Given the description of an element on the screen output the (x, y) to click on. 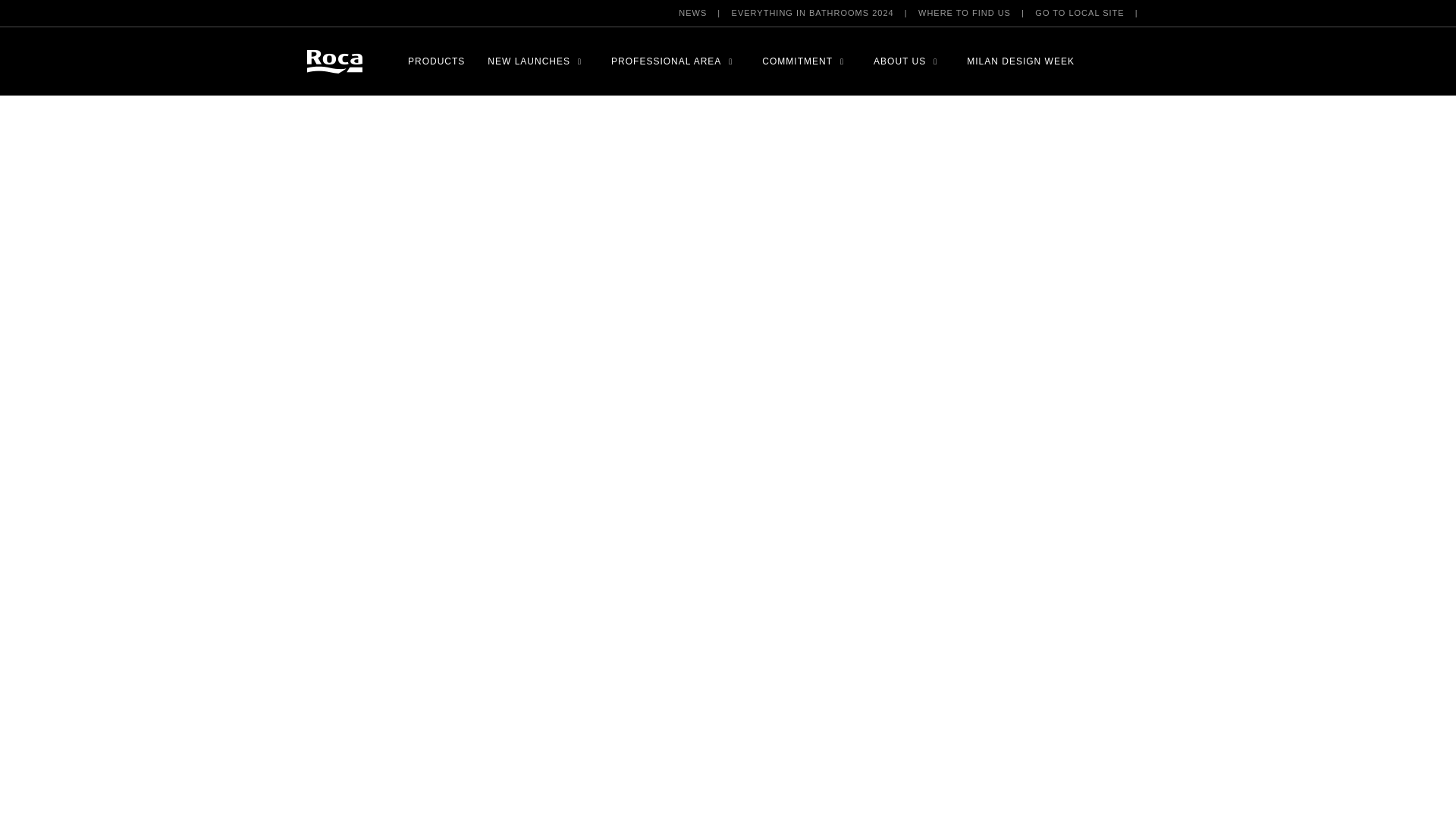
PROFESSIONAL AREA (665, 61)
COMMITMENT (796, 61)
MILAN DESIGN WEEK (1020, 61)
NEWS (692, 13)
GO TO LOCAL SITE (1079, 13)
NEW LAUNCHES (528, 61)
WHERE TO FIND US (964, 13)
EVERYTHING IN BATHROOMS 2024 (812, 13)
